Given the description of an element on the screen output the (x, y) to click on. 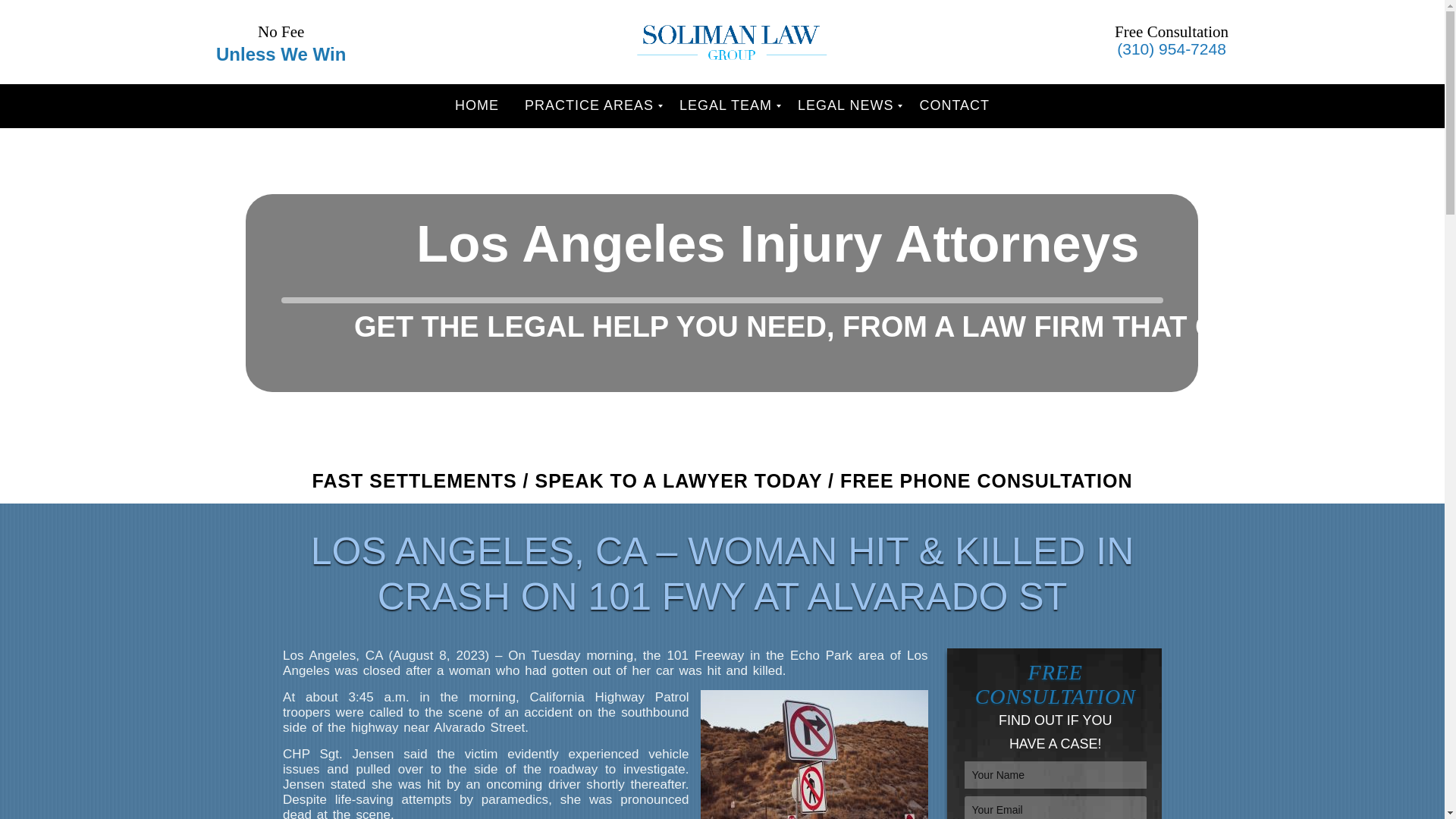
LEGAL TEAM (725, 105)
Unless We Win (280, 54)
HOME (477, 105)
PRACTICE AREAS (589, 105)
